Given the description of an element on the screen output the (x, y) to click on. 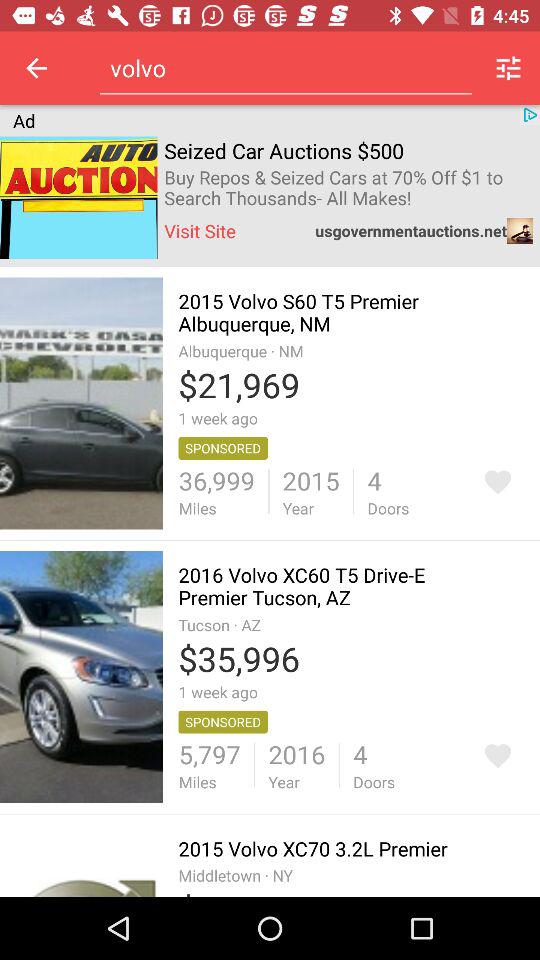
flip to the buy repos seized (348, 188)
